Given the description of an element on the screen output the (x, y) to click on. 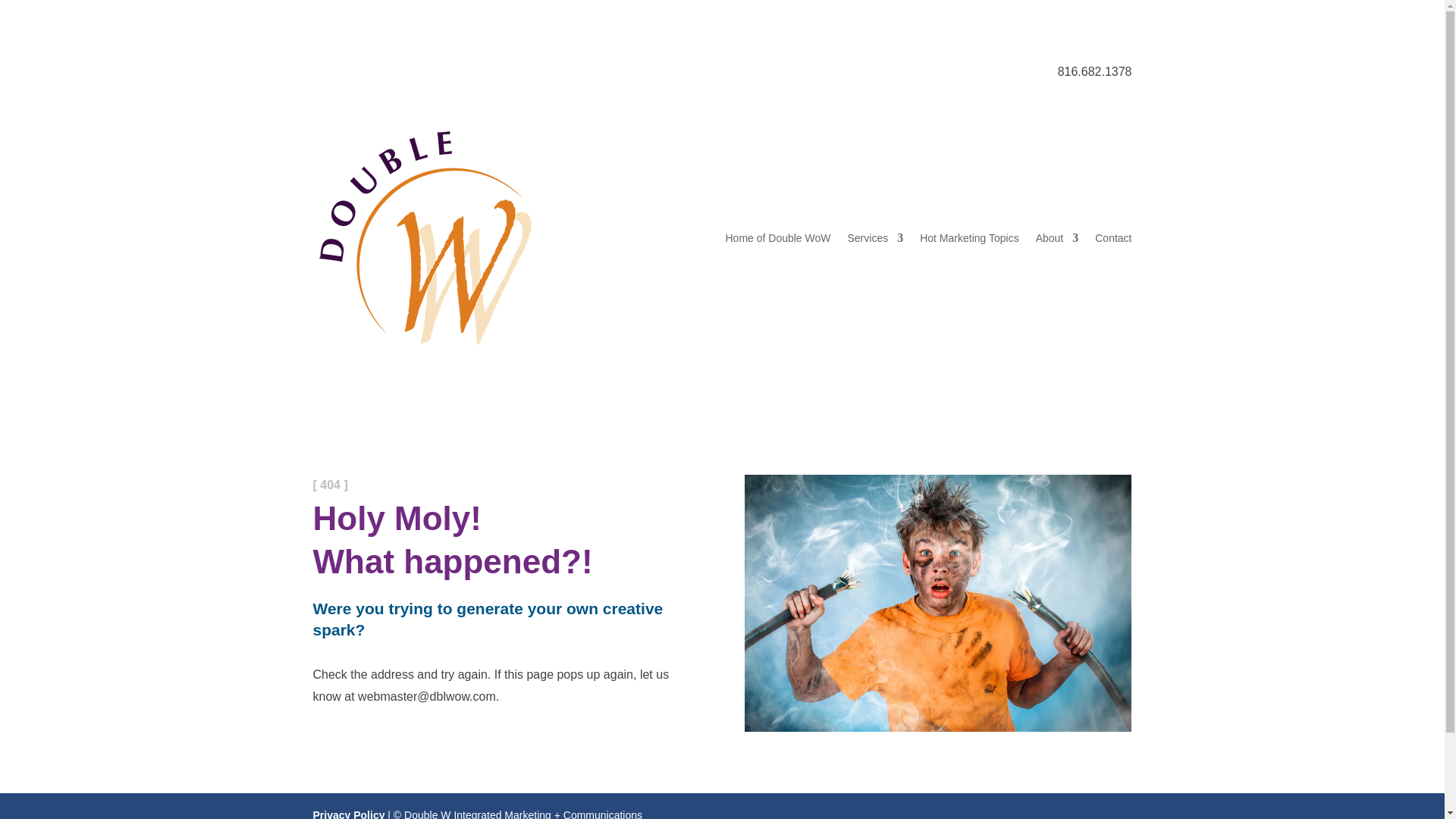
404-error (937, 603)
